Given the description of an element on the screen output the (x, y) to click on. 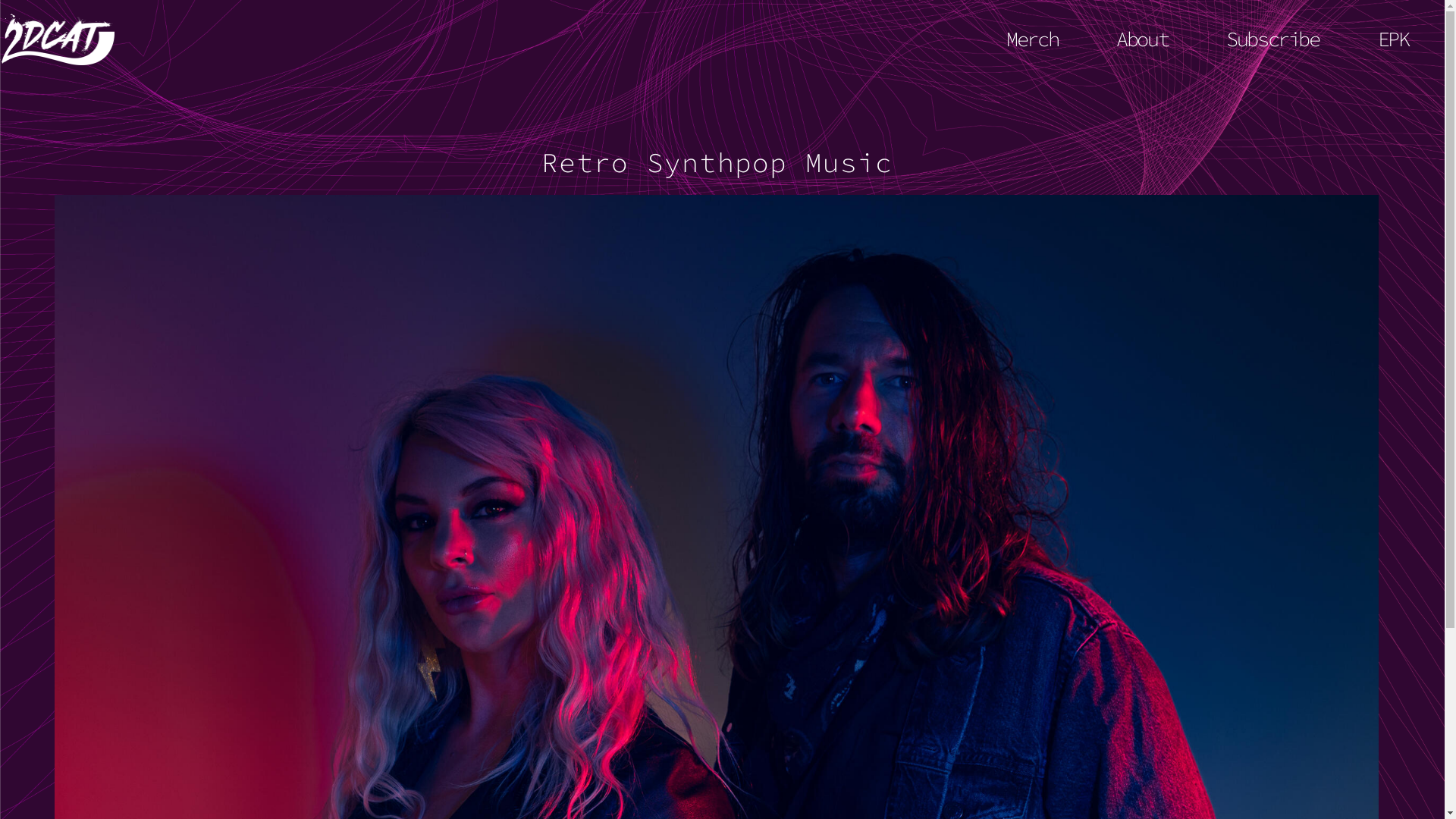
Subscribe Element type: text (1272, 38)
About Element type: text (1142, 38)
EPK Element type: text (1392, 38)
Merch Element type: text (1032, 38)
